Given the description of an element on the screen output the (x, y) to click on. 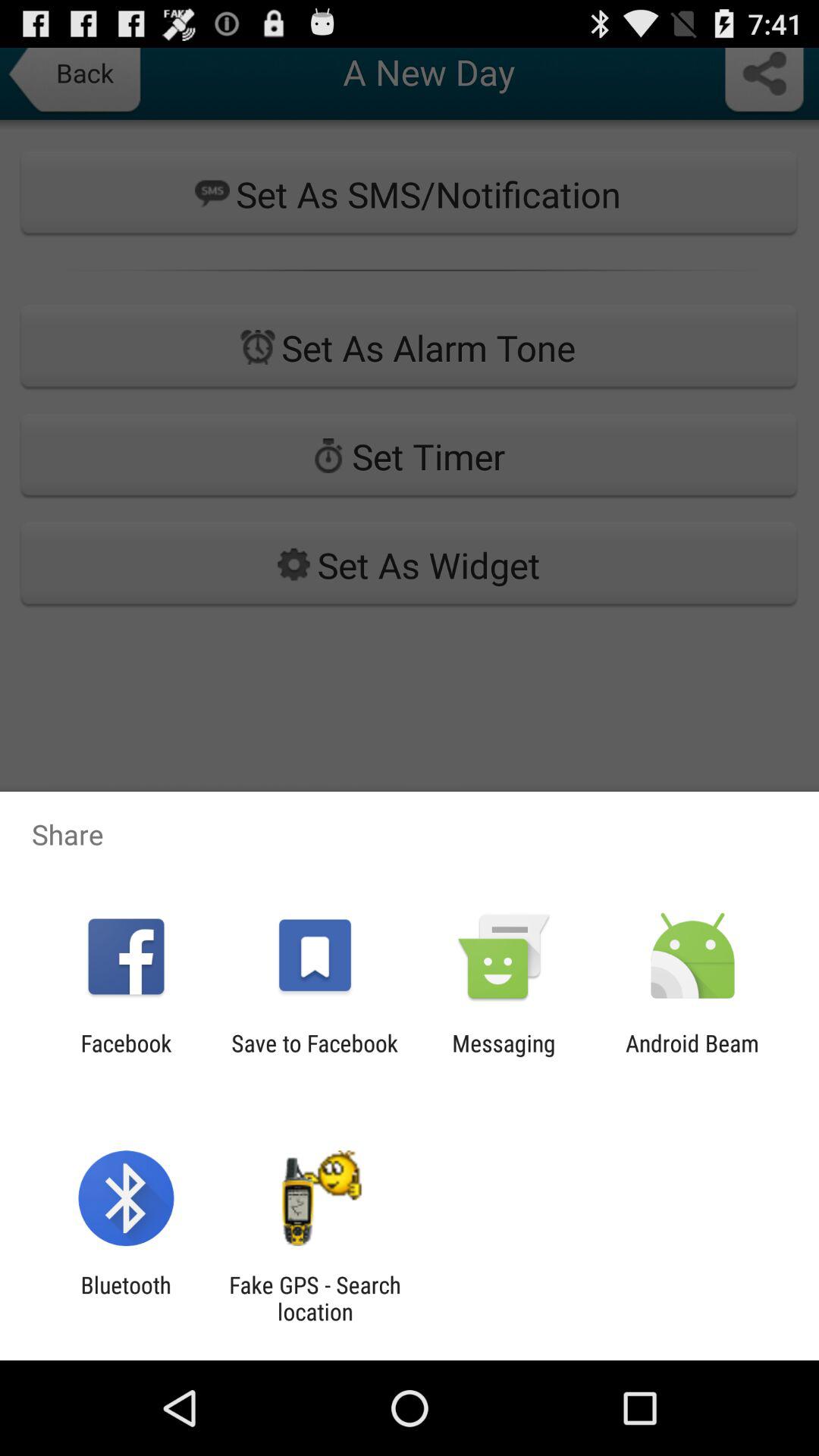
turn off the app next to the messaging item (314, 1056)
